Given the description of an element on the screen output the (x, y) to click on. 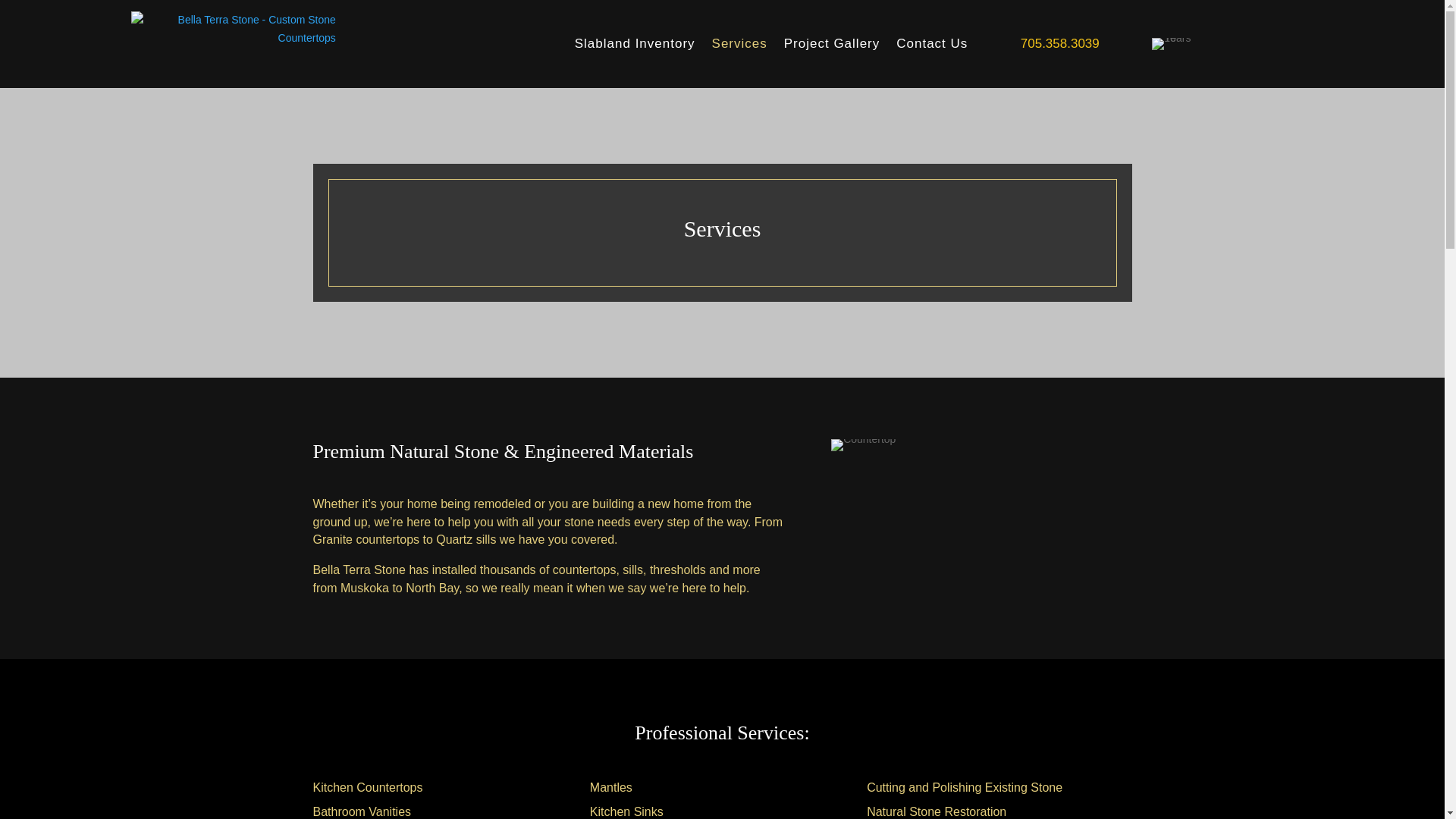
Slabland Inventory (635, 43)
Contact Us (932, 43)
705.358.3039 (1059, 43)
Project Gallery (831, 43)
